Given the description of an element on the screen output the (x, y) to click on. 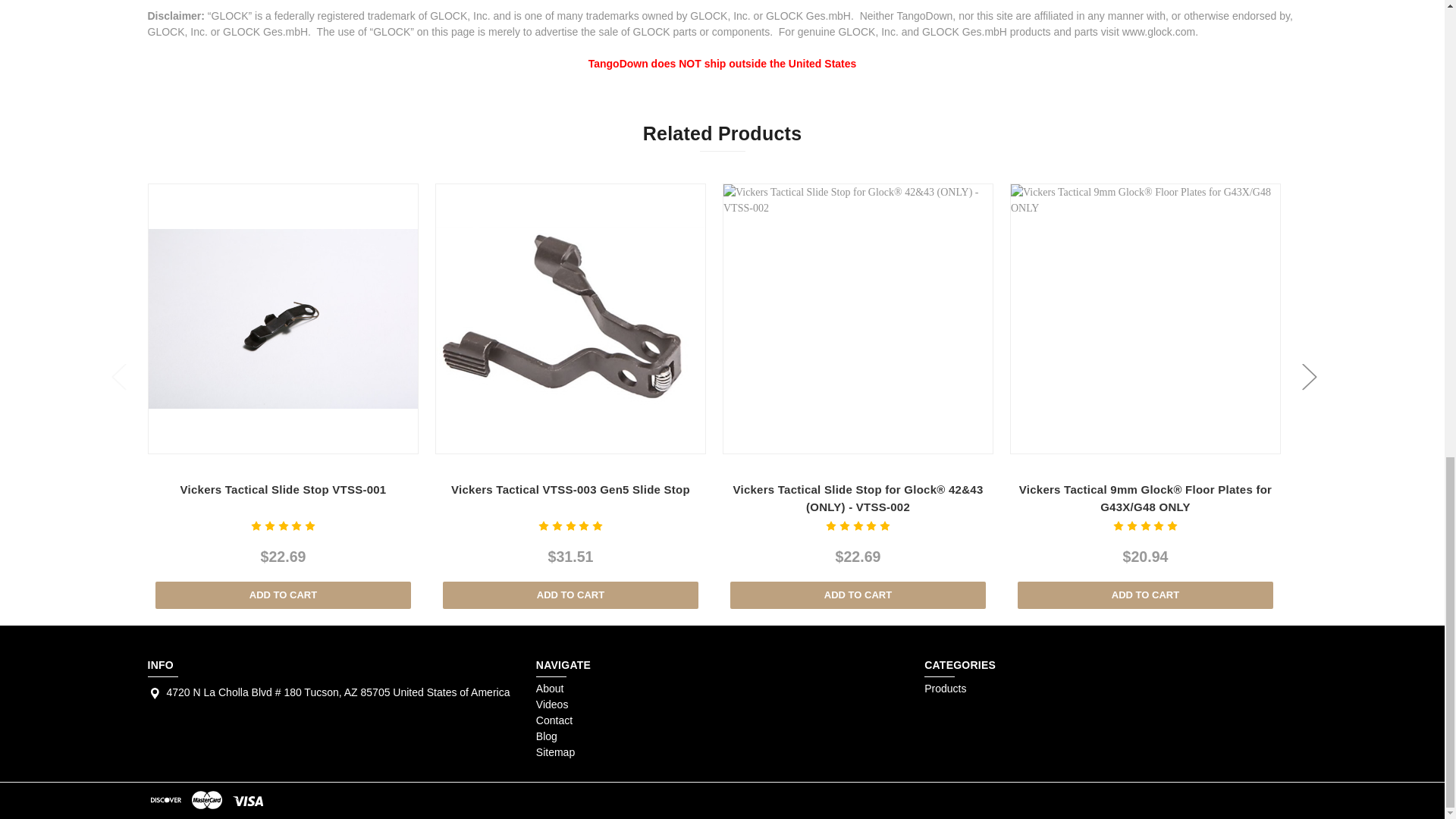
Vickers Tactical Slide Stop VTSS-001 (282, 318)
Vickers Tactical VTSS-003 Gen5 Slide Stop (569, 318)
Vickers Tactical Slide Stop VTSS-001 (282, 318)
